Given the description of an element on the screen output the (x, y) to click on. 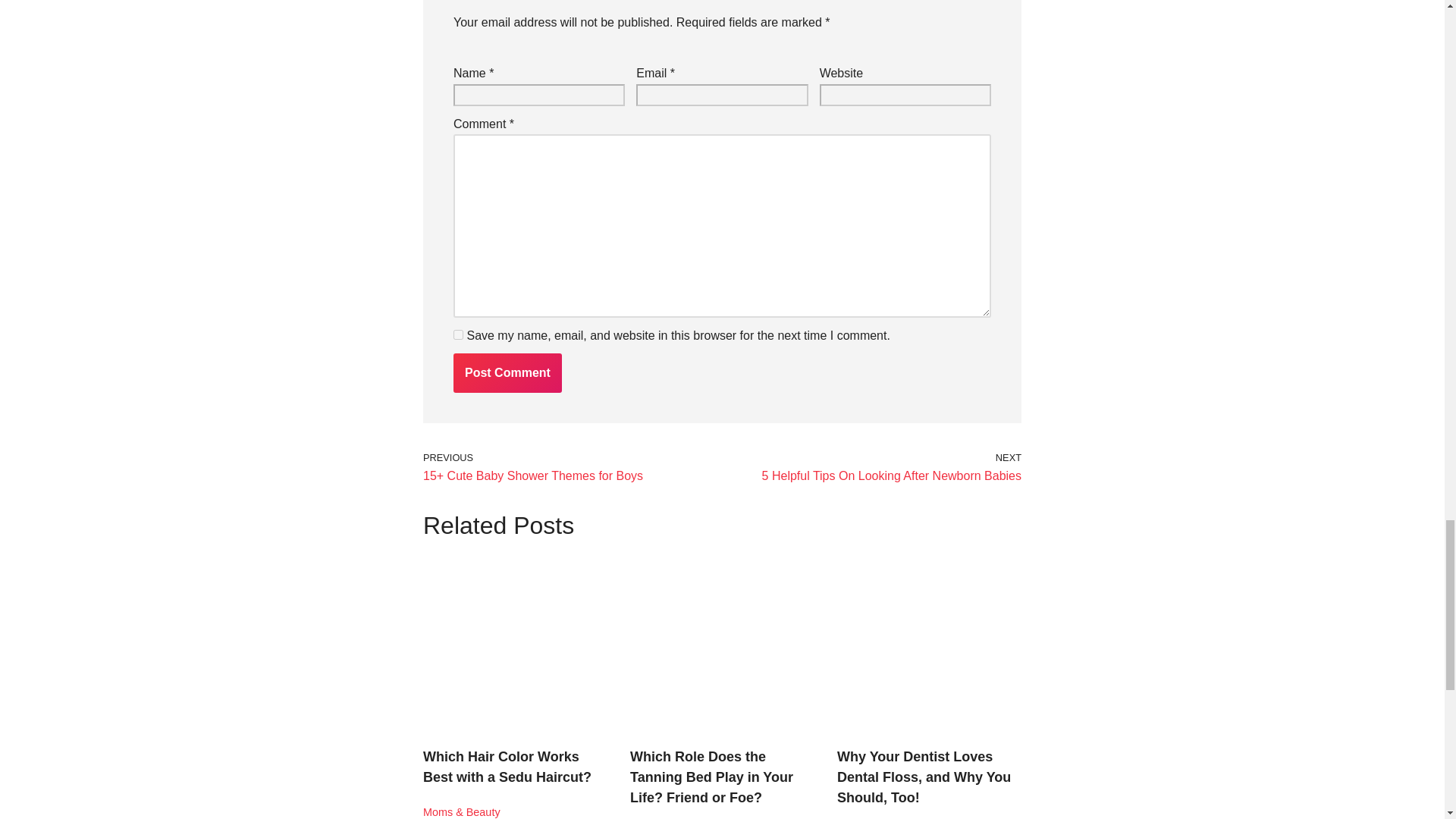
Post Comment (507, 372)
Post Comment (507, 372)
Which Hair Color Works Best with a Sedu Haircut? (507, 766)
yes (875, 467)
